Given the description of an element on the screen output the (x, y) to click on. 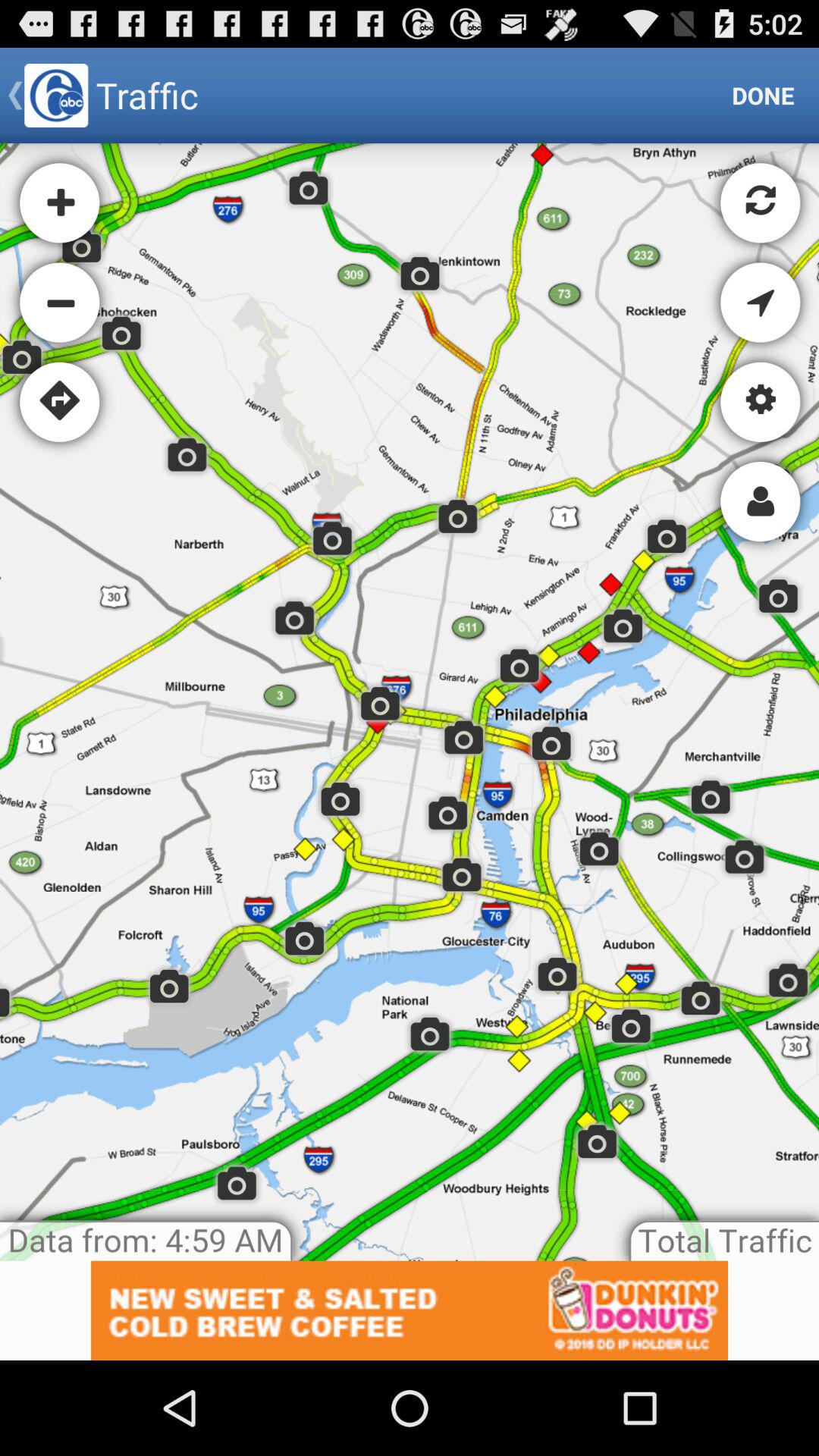
advertisement page (409, 1310)
